Given the description of an element on the screen output the (x, y) to click on. 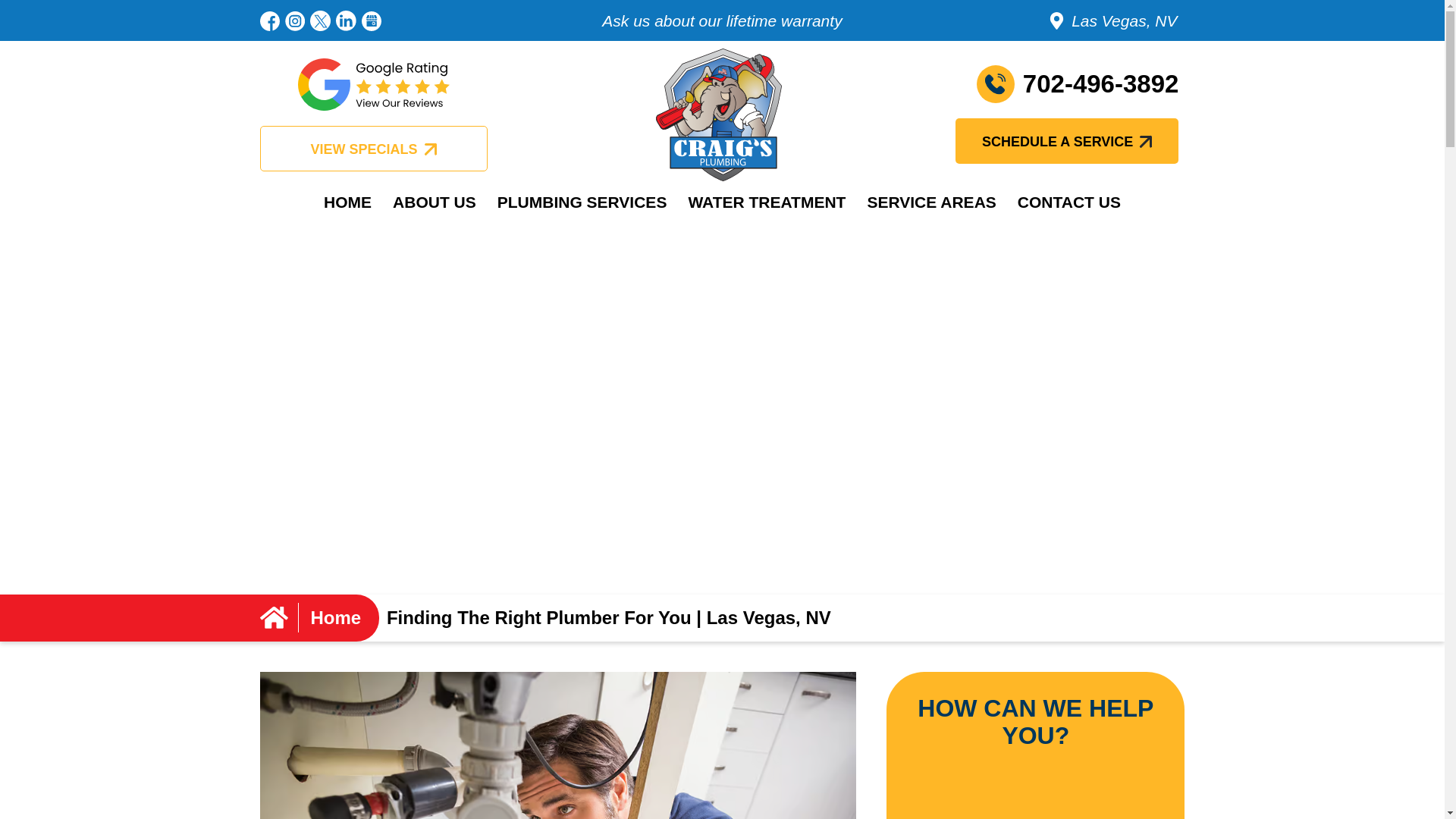
WATER TREATMENT (766, 202)
SERVICE AREAS (931, 202)
SCHEDULE A SERVICE (1066, 125)
HOME (346, 202)
702-496-3892 (1039, 84)
PLUMBING SERVICES (582, 202)
Las Vegas, NV (1031, 3)
VIEW SPECIALS (372, 125)
ABOUT US (434, 202)
